Given the description of an element on the screen output the (x, y) to click on. 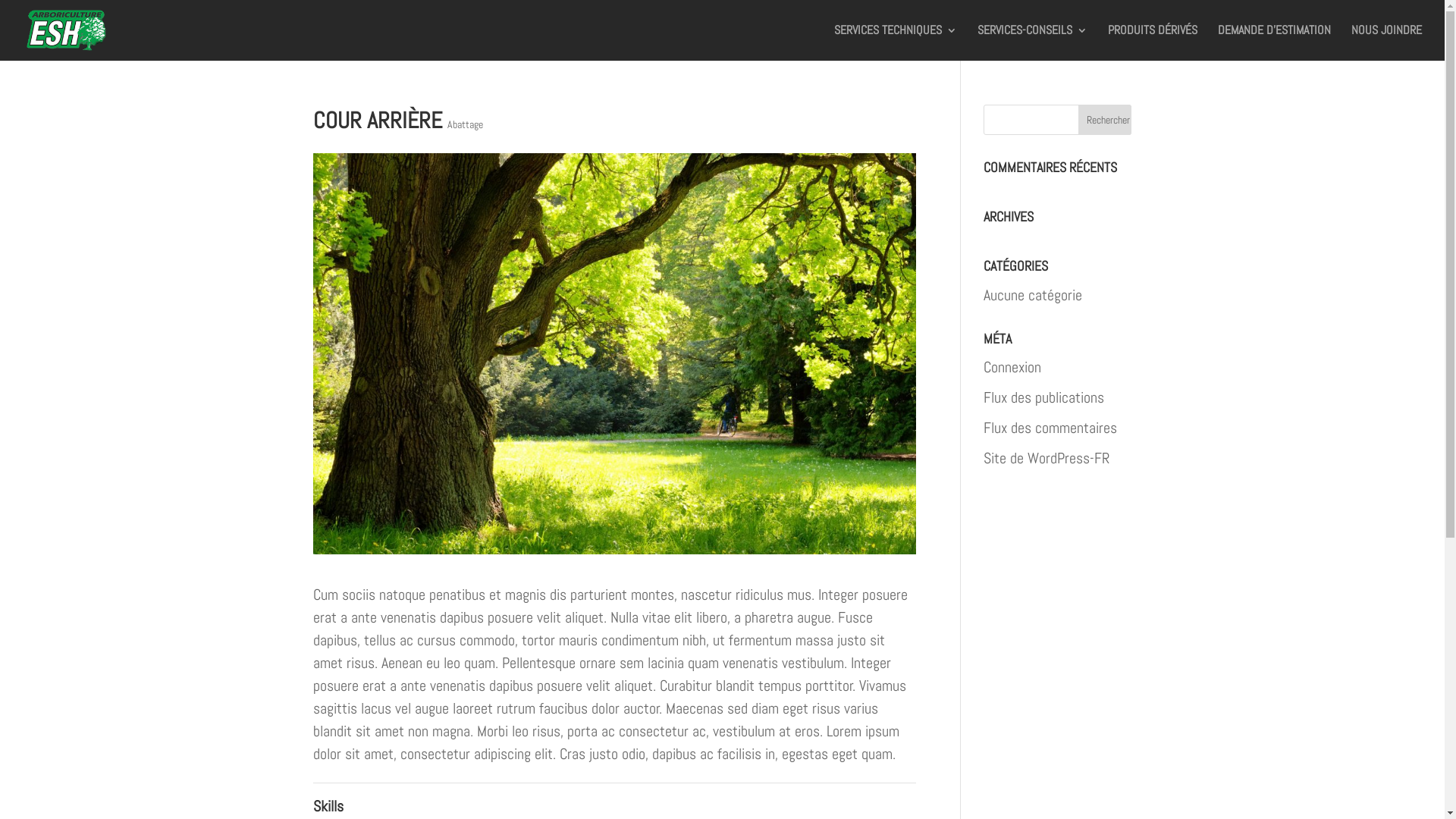
NOUS JOINDRE Element type: text (1386, 42)
SERVICES-CONSEILS Element type: text (1032, 42)
Flux des publications Element type: text (1043, 397)
SERVICES TECHNIQUES Element type: text (895, 42)
Rechercher Element type: text (1104, 119)
Abattage Element type: text (465, 124)
Site de WordPress-FR Element type: text (1046, 457)
Flux des commentaires Element type: text (1050, 427)
Connexion Element type: text (1012, 366)
